Given the description of an element on the screen output the (x, y) to click on. 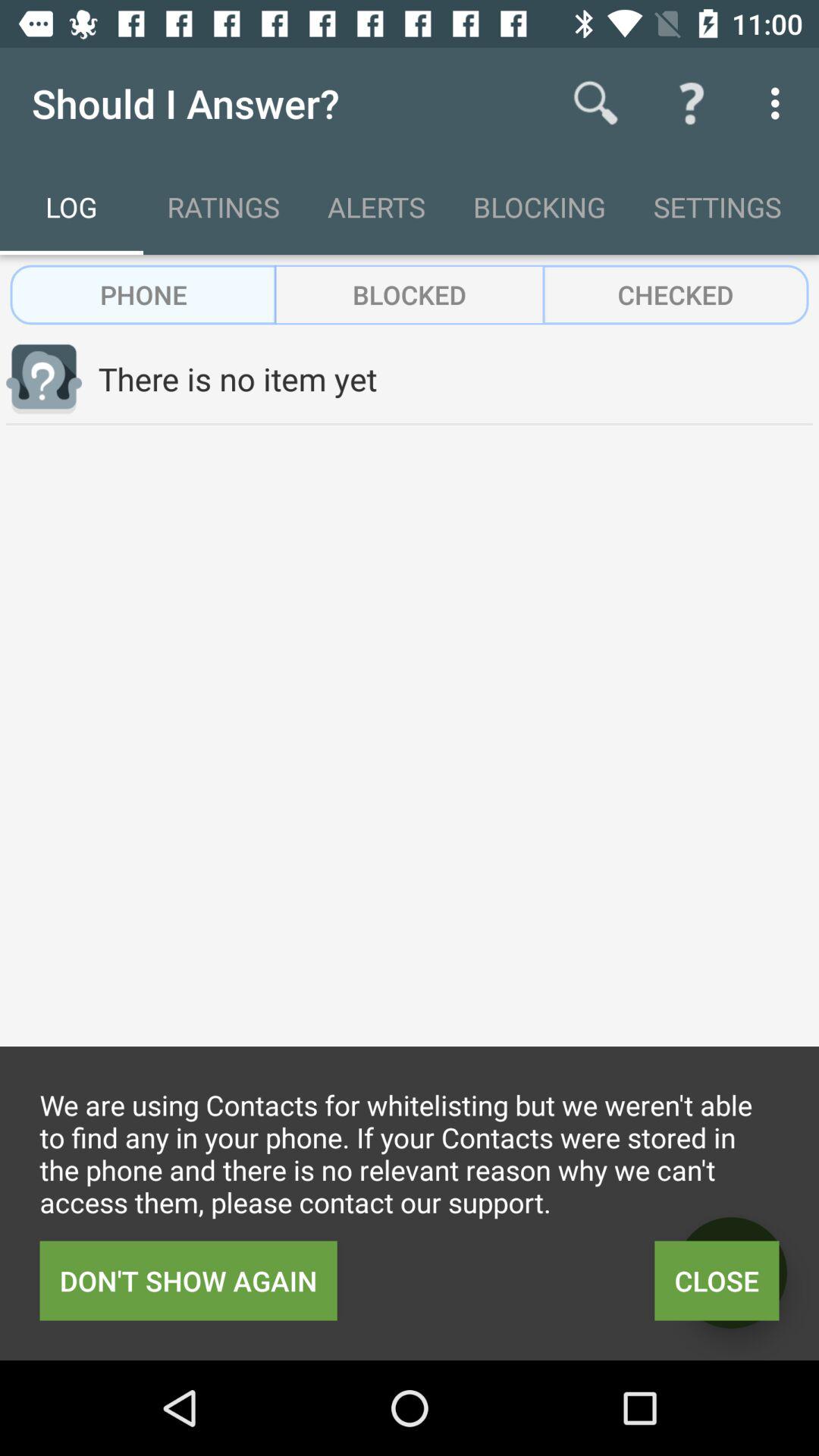
turn off the icon below the blocking item (675, 294)
